Given the description of an element on the screen output the (x, y) to click on. 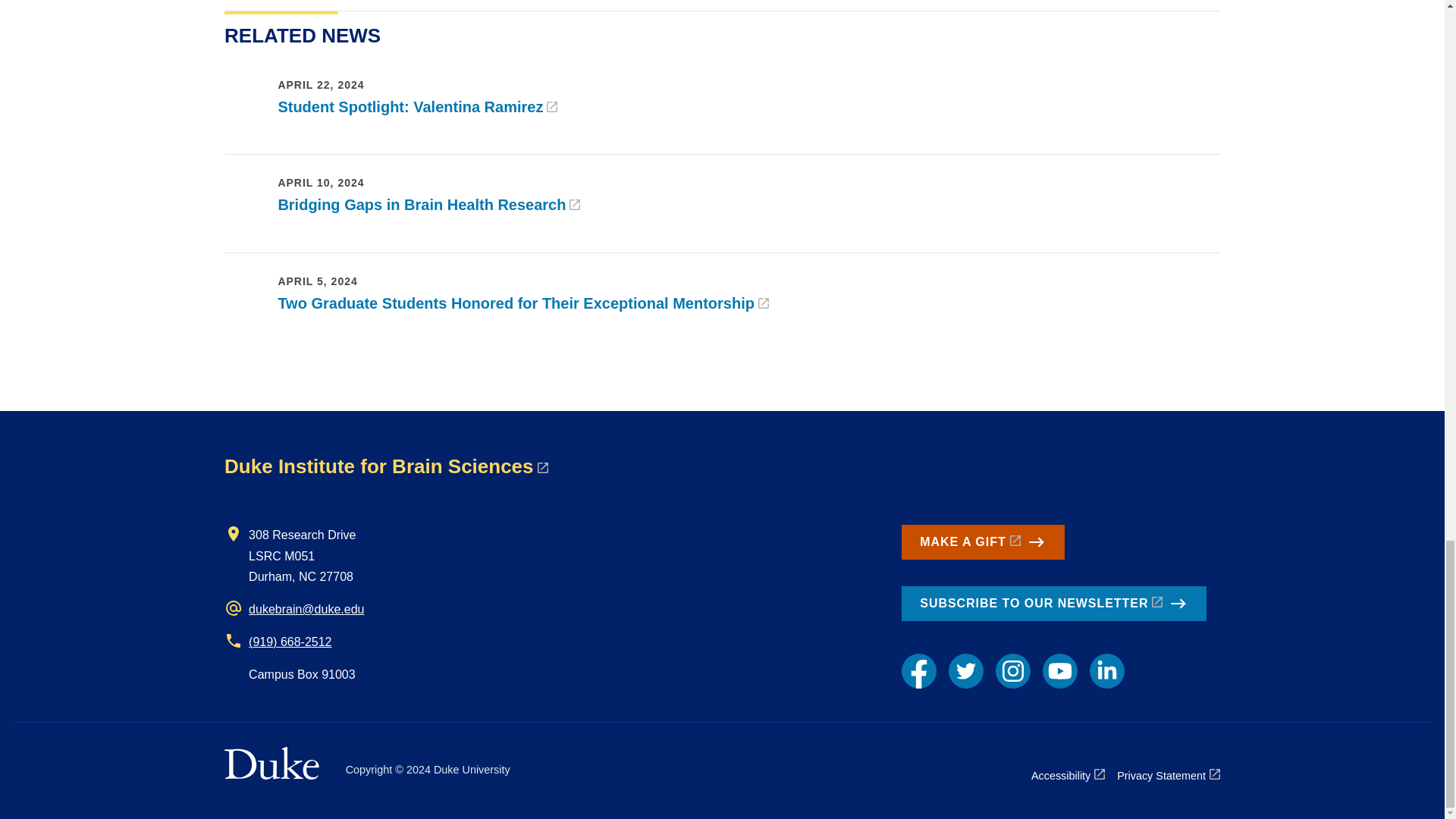
MAKE A GIFT (982, 541)
Twitter link (966, 670)
Student Spotlight: Valentina Ramirez (417, 106)
LinkedIn link (1106, 670)
YouTube link (1059, 670)
Duke Institute for Brain Sciences (385, 466)
Instagram link (1012, 670)
Privacy Statement (1168, 775)
SUBSCRIBE TO OUR NEWSLETTER (1054, 603)
Accessibility (1067, 775)
Facebook link (918, 670)
Bridging Gaps in Brain Health Research (428, 204)
